Given the description of an element on the screen output the (x, y) to click on. 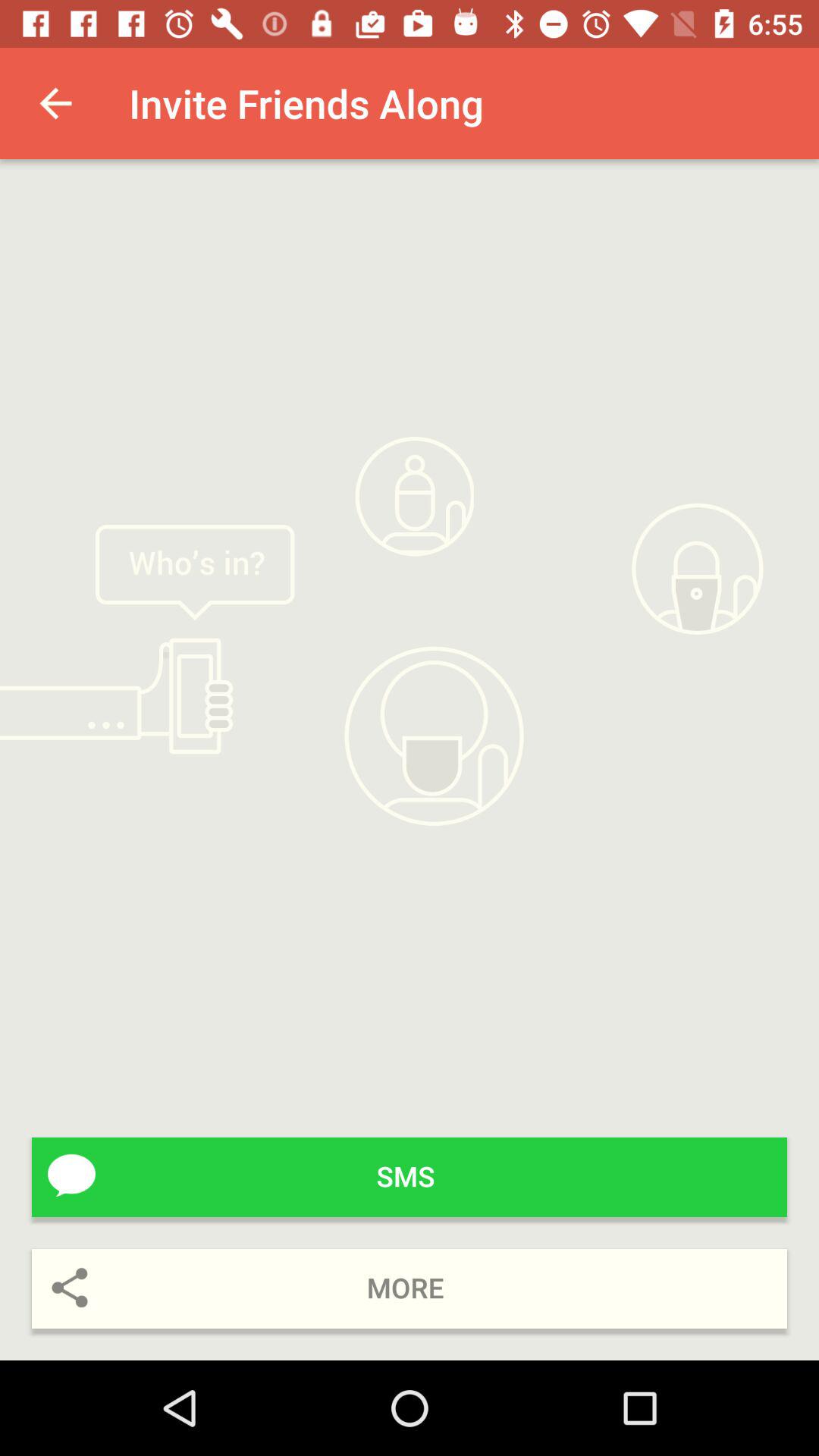
press the icon below sms (409, 1288)
